Given the description of an element on the screen output the (x, y) to click on. 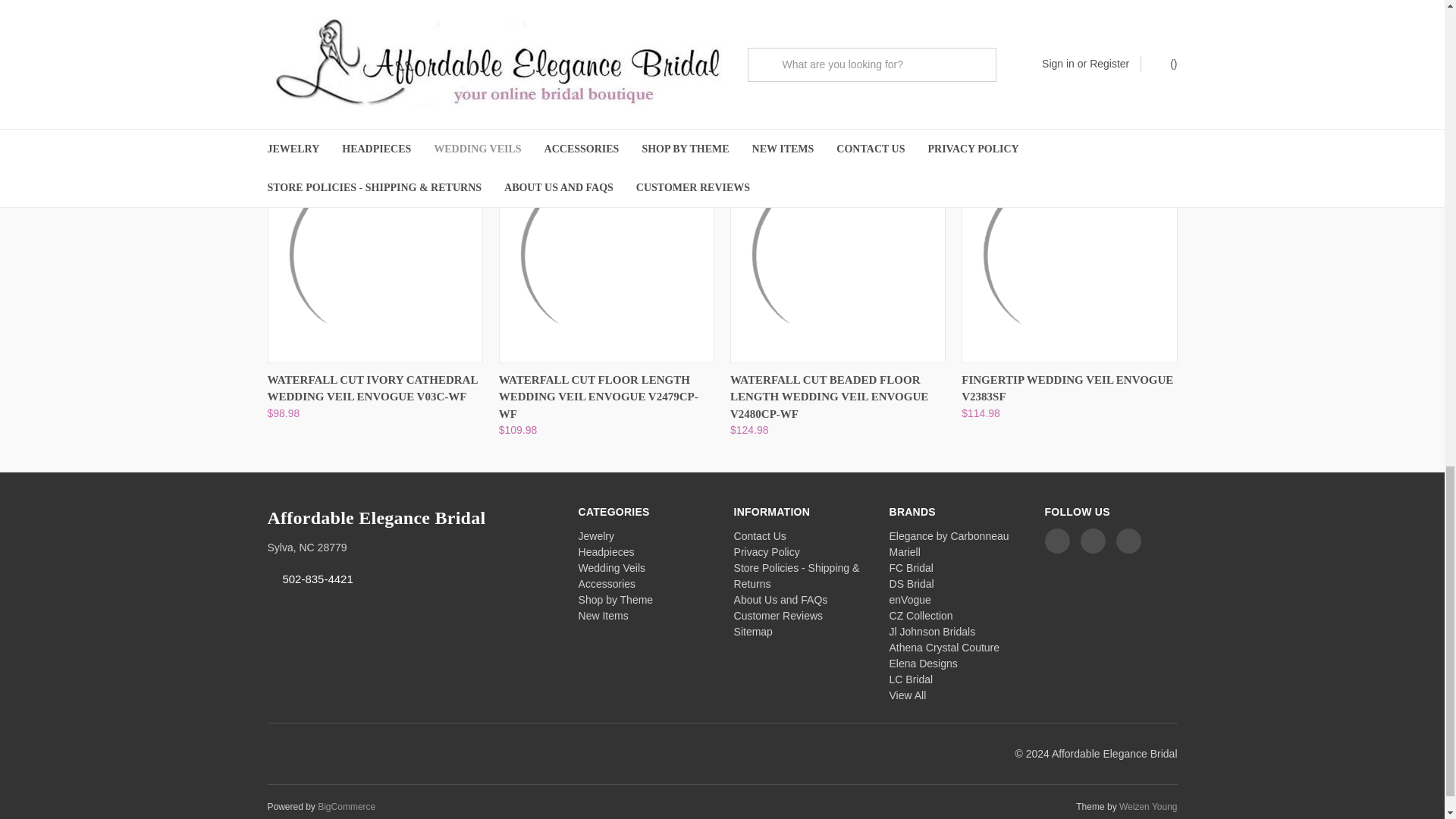
Waterfall Cut Ivory Cathedral Wedding Veil enVogue V03C-WF (374, 254)
Waterfall Cut Floor Length Wedding Veil Envogue V2479CP-WF (606, 254)
Fingertip Wedding Veil Envogue V2383SF (1068, 254)
